Given the description of an element on the screen output the (x, y) to click on. 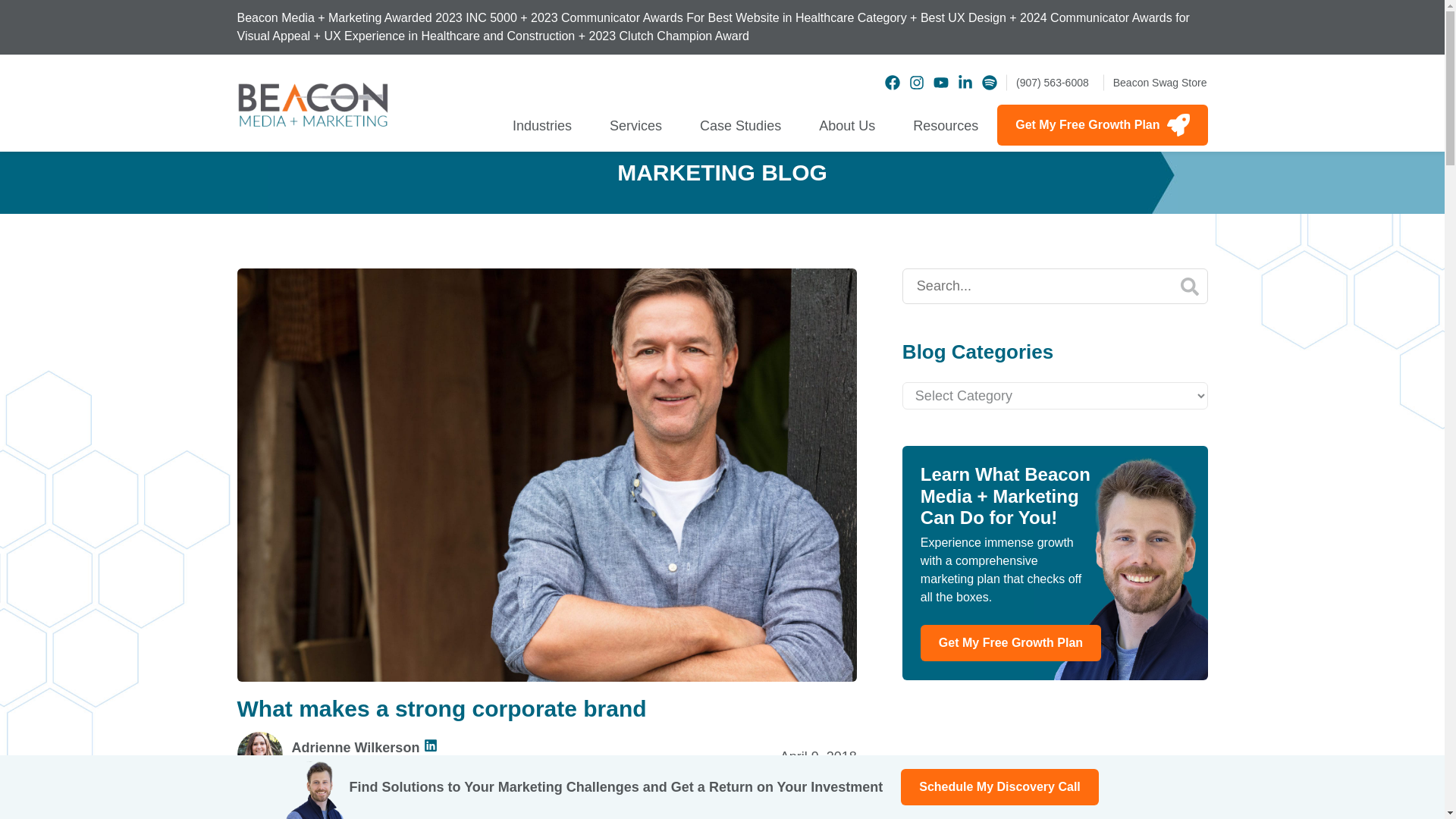
YouTube (940, 82)
Case Studies (740, 127)
About Us (846, 127)
Beacon Swag Store (1155, 82)
Instagram (916, 82)
Industries (542, 127)
Services (636, 127)
Spotify (988, 82)
LinkedIn (964, 82)
Facebook (892, 82)
